Given the description of an element on the screen output the (x, y) to click on. 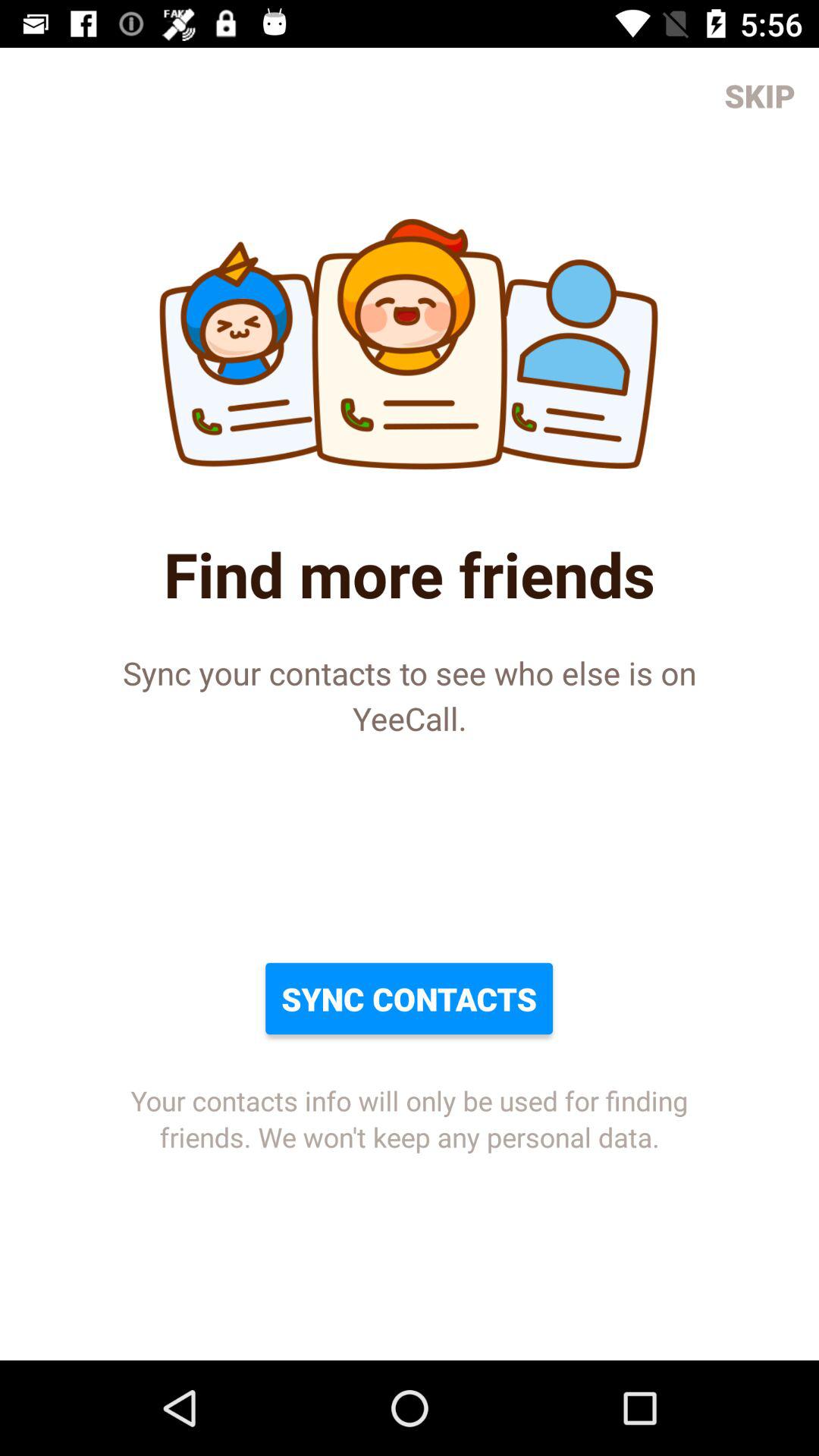
select skip (759, 95)
